Given the description of an element on the screen output the (x, y) to click on. 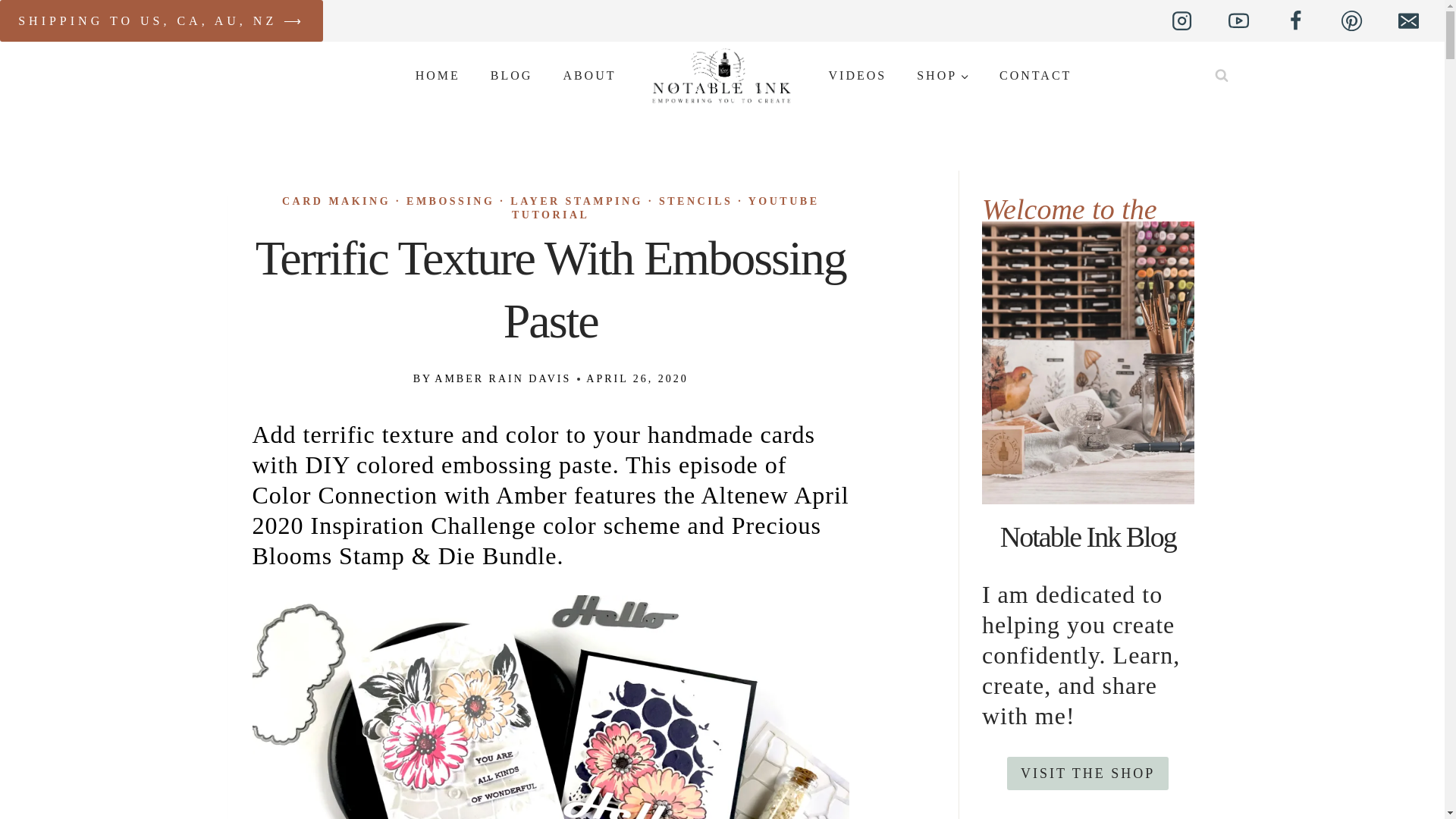
HOME (438, 75)
VIDEOS (856, 75)
BLOG (512, 75)
CARD MAKING (336, 201)
CONTACT (1035, 75)
AMBER RAIN DAVIS (501, 378)
SHOP (942, 75)
YOUTUBE TUTORIAL (665, 207)
ABOUT (588, 75)
LAYER STAMPING (577, 201)
